Given the description of an element on the screen output the (x, y) to click on. 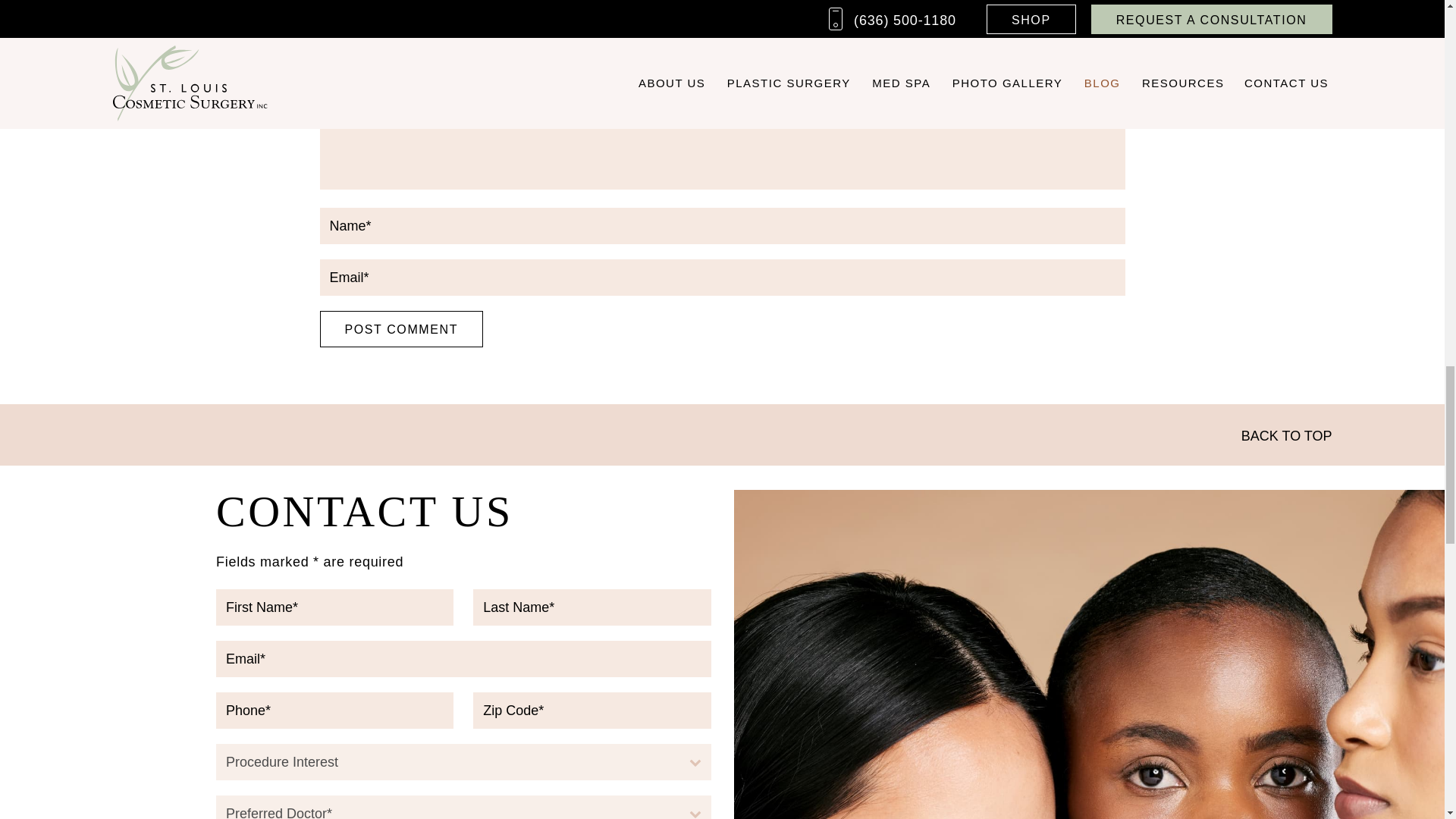
Post Comment (401, 329)
